Given the description of an element on the screen output the (x, y) to click on. 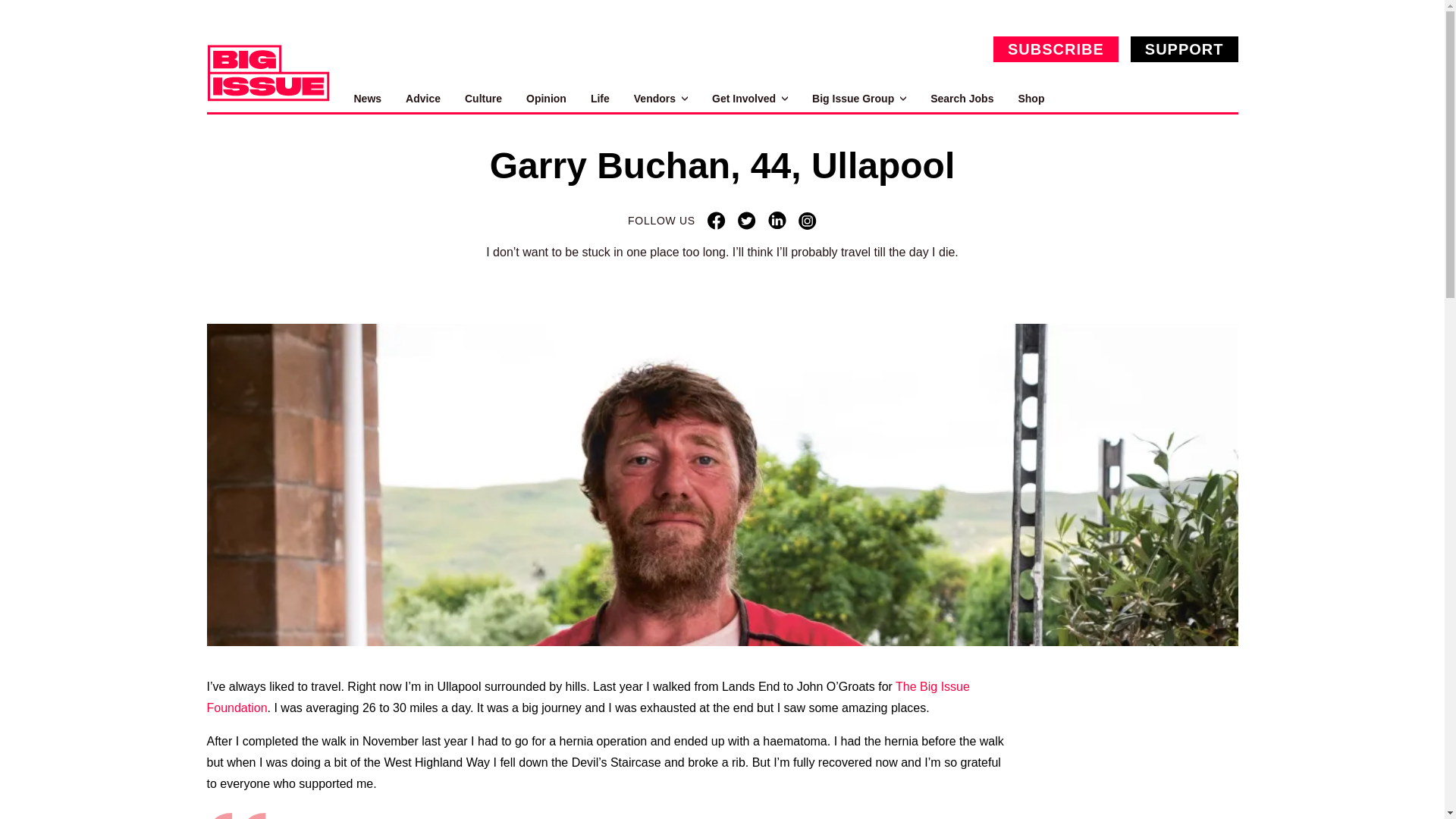
Vendors (660, 98)
Subscribe (1055, 49)
Support (1185, 49)
SUPPORT (1185, 49)
Get Involved (749, 98)
Search (1220, 98)
SUBSCRIBE (1055, 49)
Big Issue Group (858, 98)
Advice (423, 98)
SEARCH (1220, 98)
Opinion (545, 98)
Search Jobs (961, 98)
Culture (483, 98)
